Given the description of an element on the screen output the (x, y) to click on. 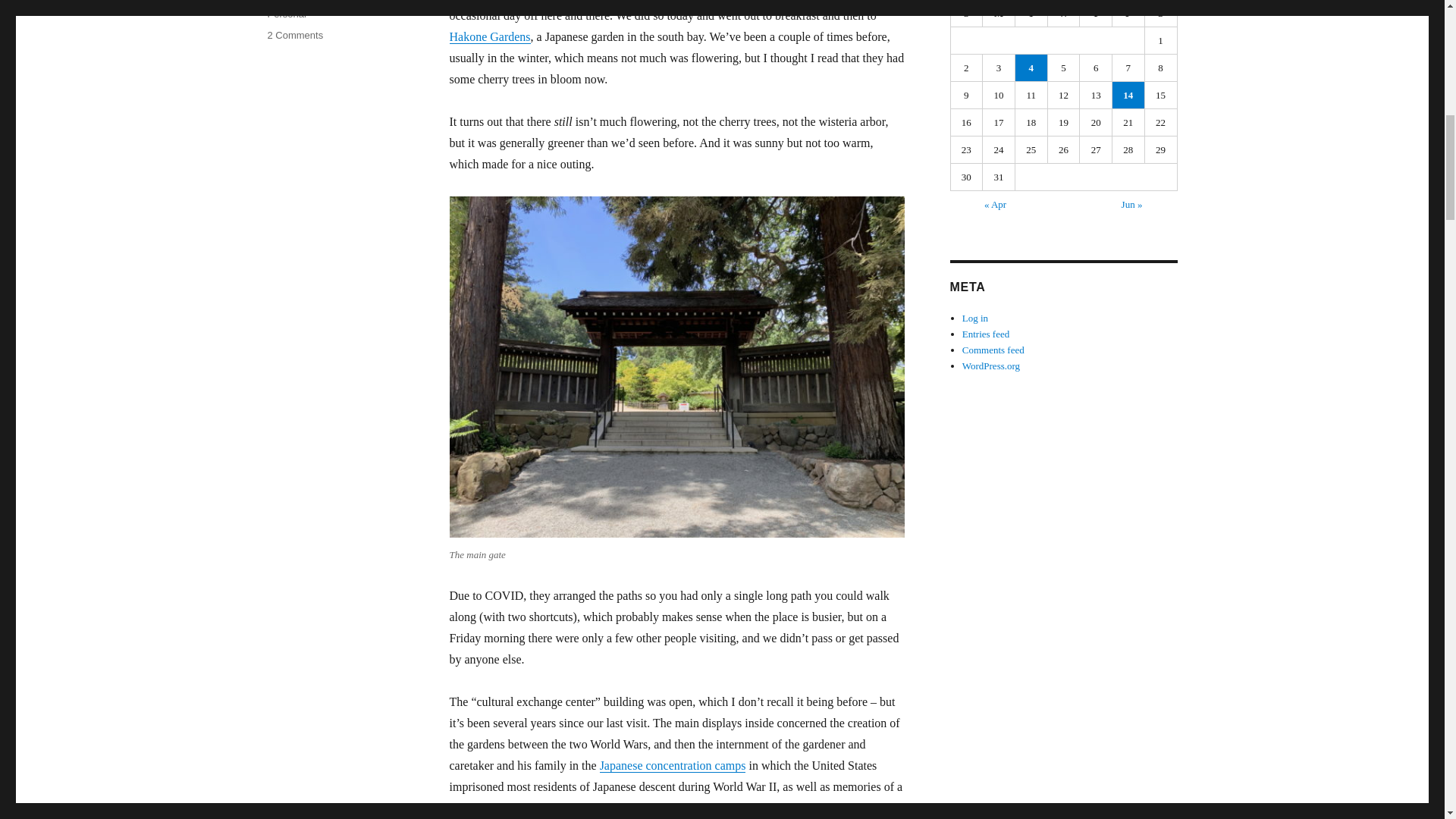
Saturday (1160, 13)
Hakone Gardens (488, 36)
Personal (285, 13)
Monday (998, 13)
14 (1128, 94)
WordPress.org (991, 365)
Tuesday (1031, 13)
Comments feed (993, 349)
Thursday (1096, 13)
Wednesday (1064, 13)
Japanese concentration camps (672, 765)
Sunday (967, 13)
4 (294, 34)
Entries feed (1030, 67)
